Given the description of an element on the screen output the (x, y) to click on. 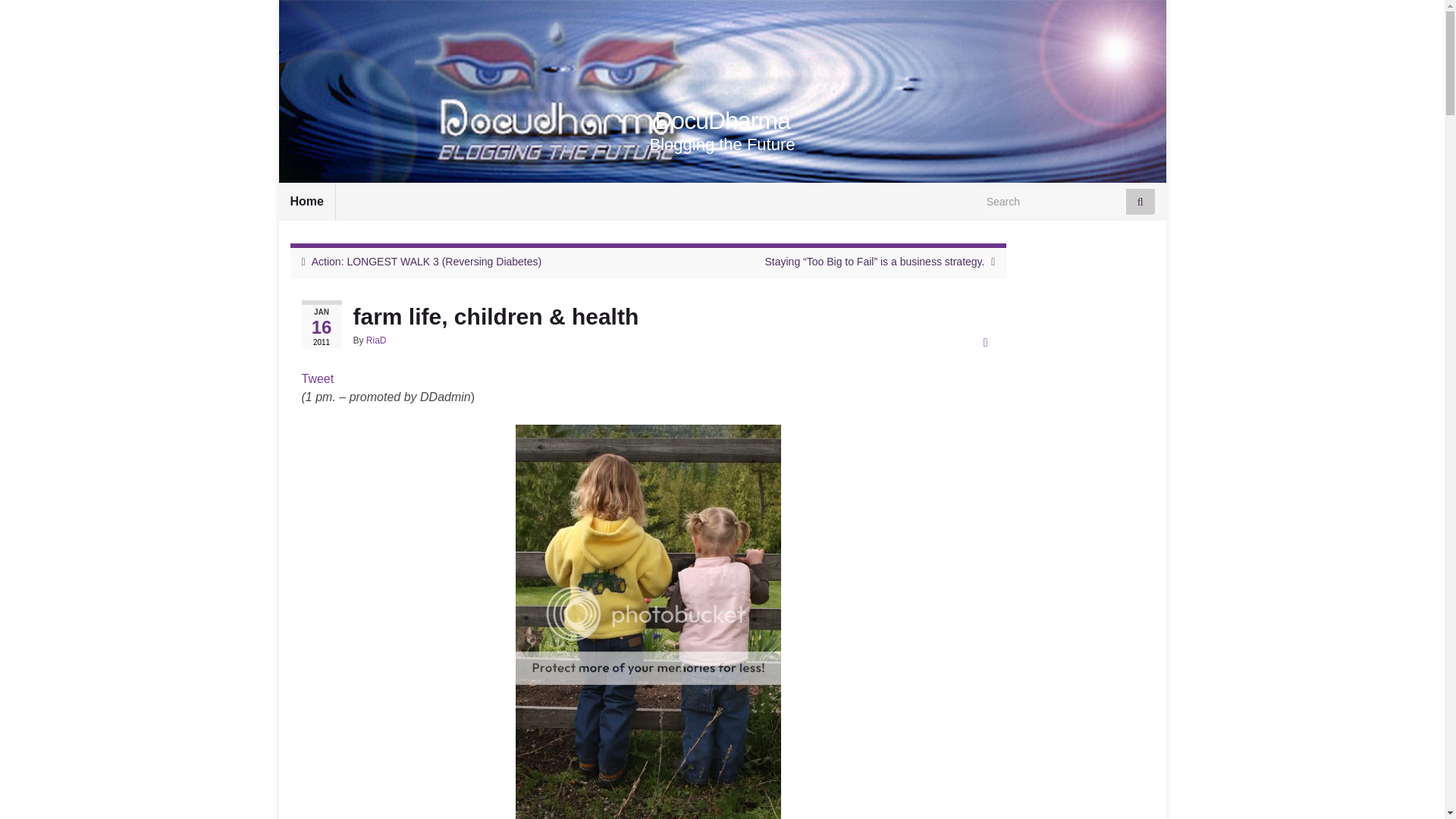
Tweet (317, 378)
Home (306, 201)
Go back to the front page (721, 120)
DocuDharma (721, 120)
RiaD (376, 339)
